Given the description of an element on the screen output the (x, y) to click on. 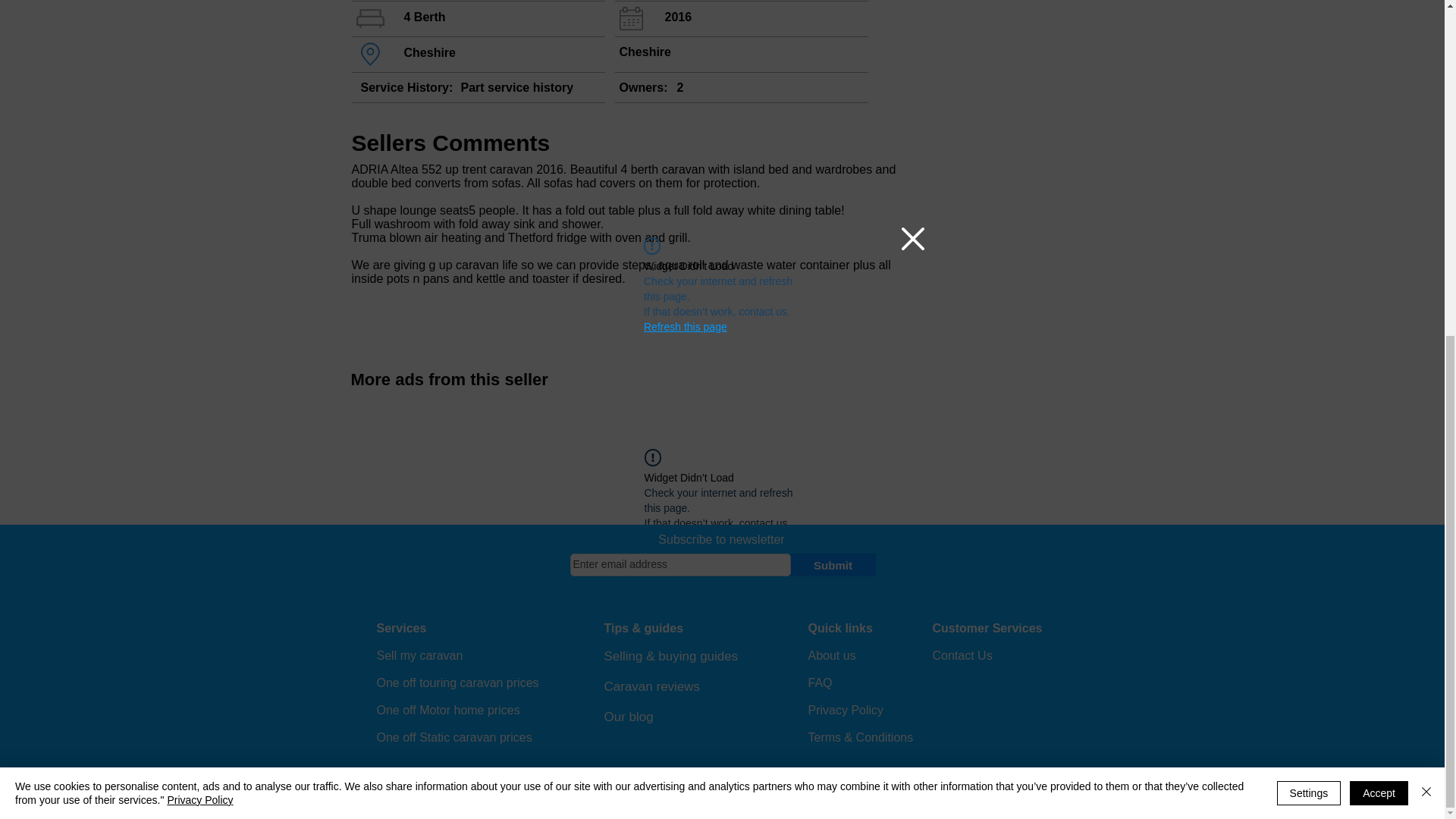
About us (832, 655)
Submit (832, 564)
One off touring caravan prices (456, 682)
Our blog (628, 716)
Sell my caravan (419, 655)
Caravan reviews (652, 686)
One off Static caravan prices (453, 737)
FAQ (820, 682)
Privacy Policy (845, 709)
